Given the description of an element on the screen output the (x, y) to click on. 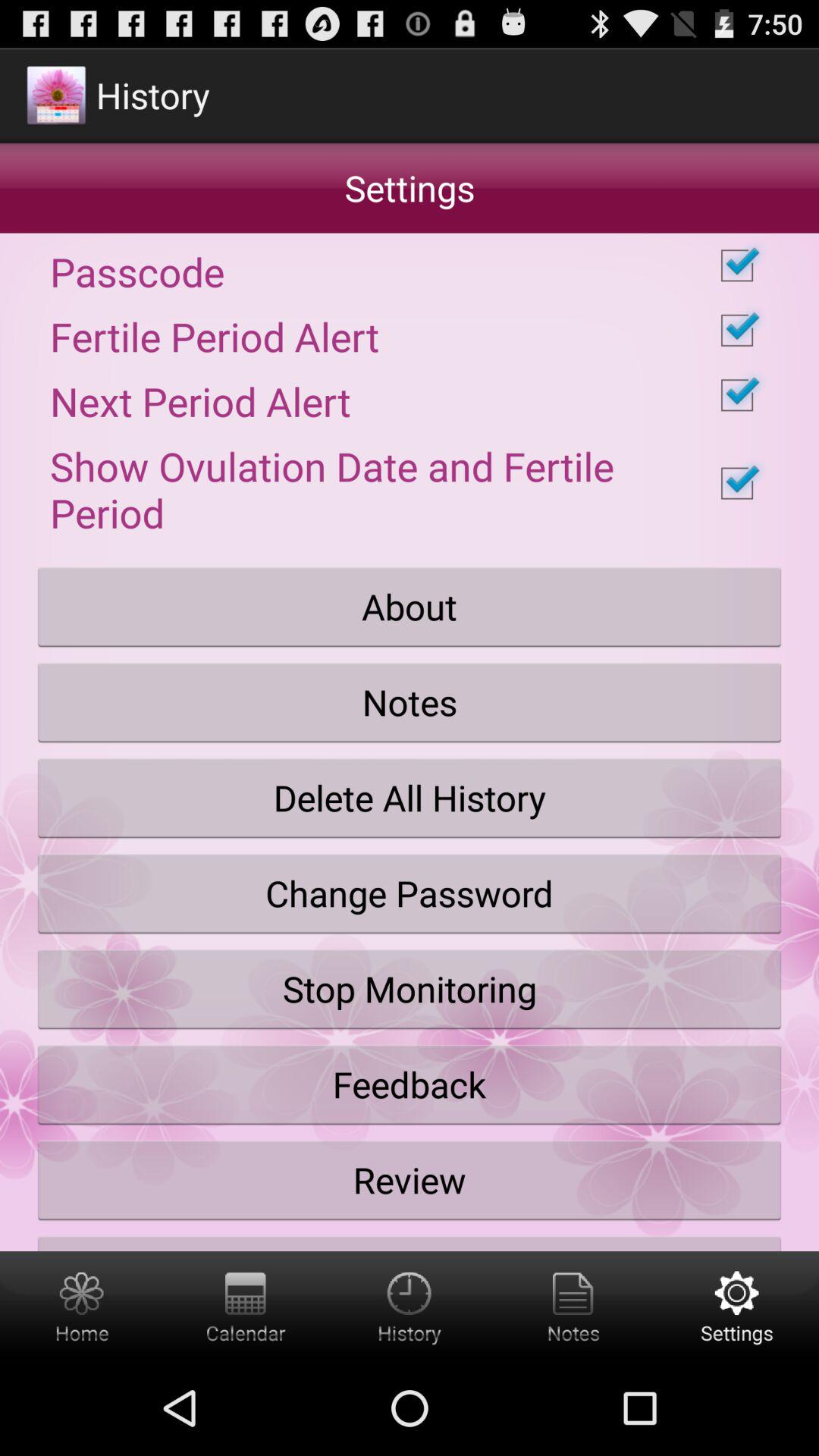
history (409, 1305)
